Given the description of an element on the screen output the (x, y) to click on. 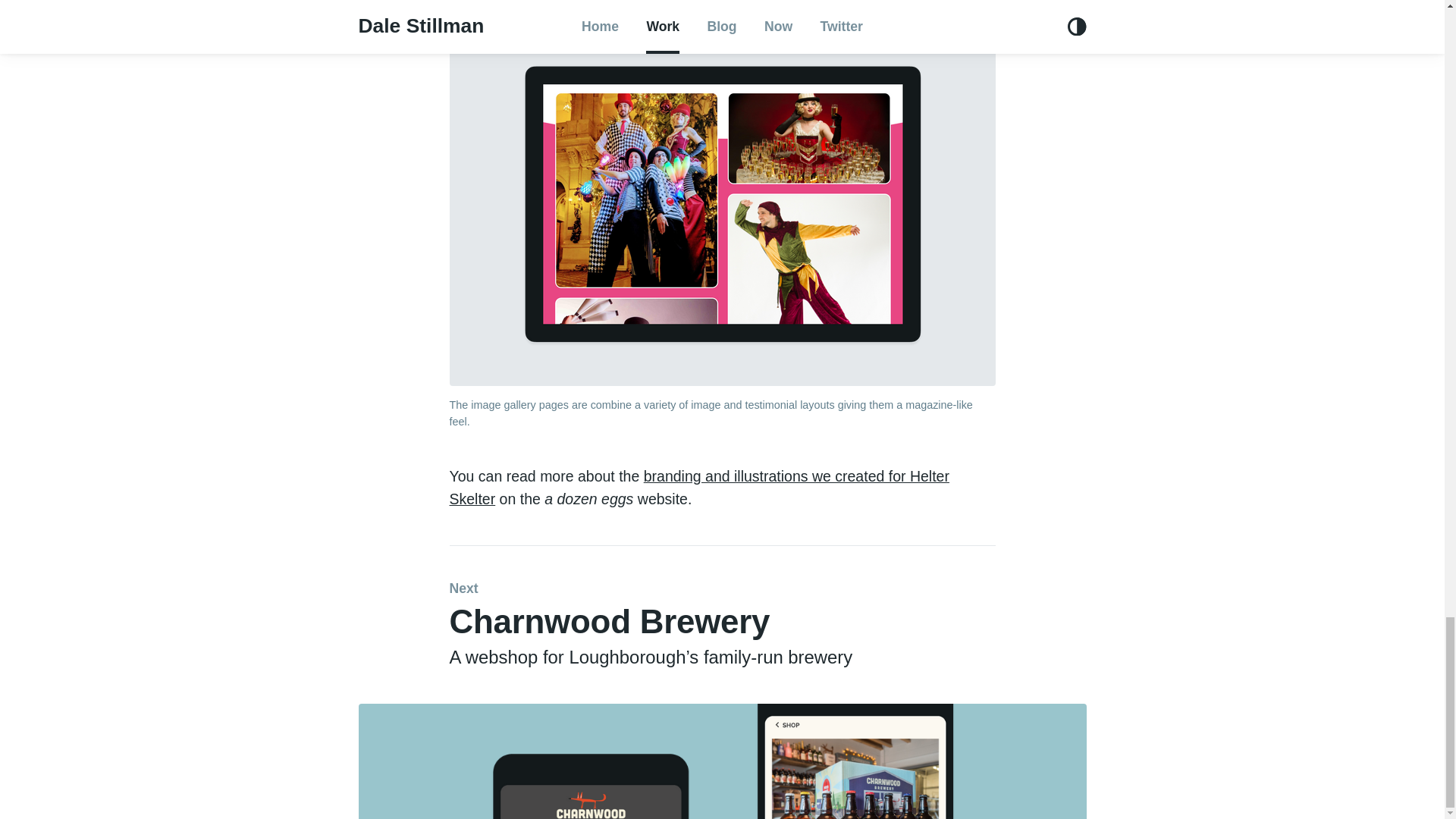
branding and illustrations we created for Helter Skelter (698, 486)
Helter Skelter branding on a dozen eggs website (698, 486)
